Given the description of an element on the screen output the (x, y) to click on. 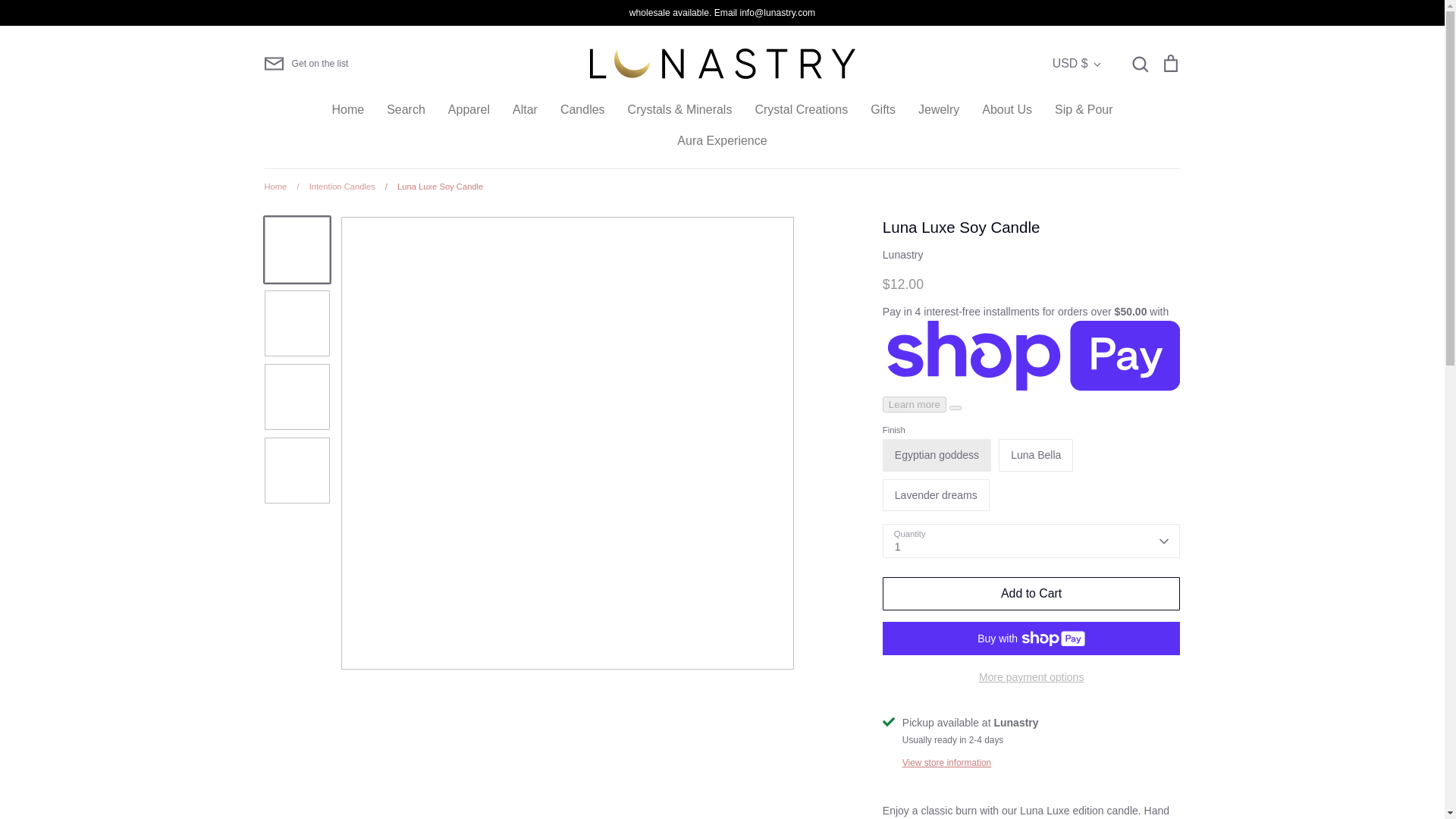
Get on the list (305, 63)
